Given the description of an element on the screen output the (x, y) to click on. 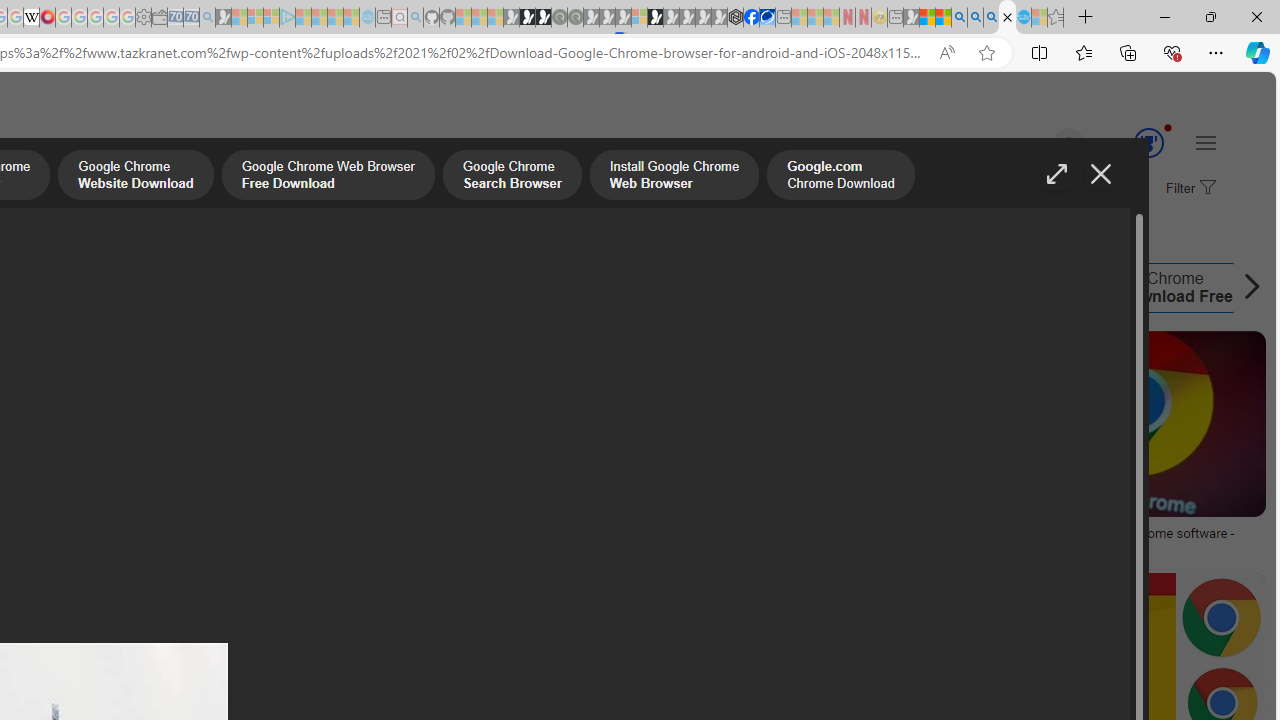
AutomationID: rh_meter (1148, 142)
